Given the description of an element on the screen output the (x, y) to click on. 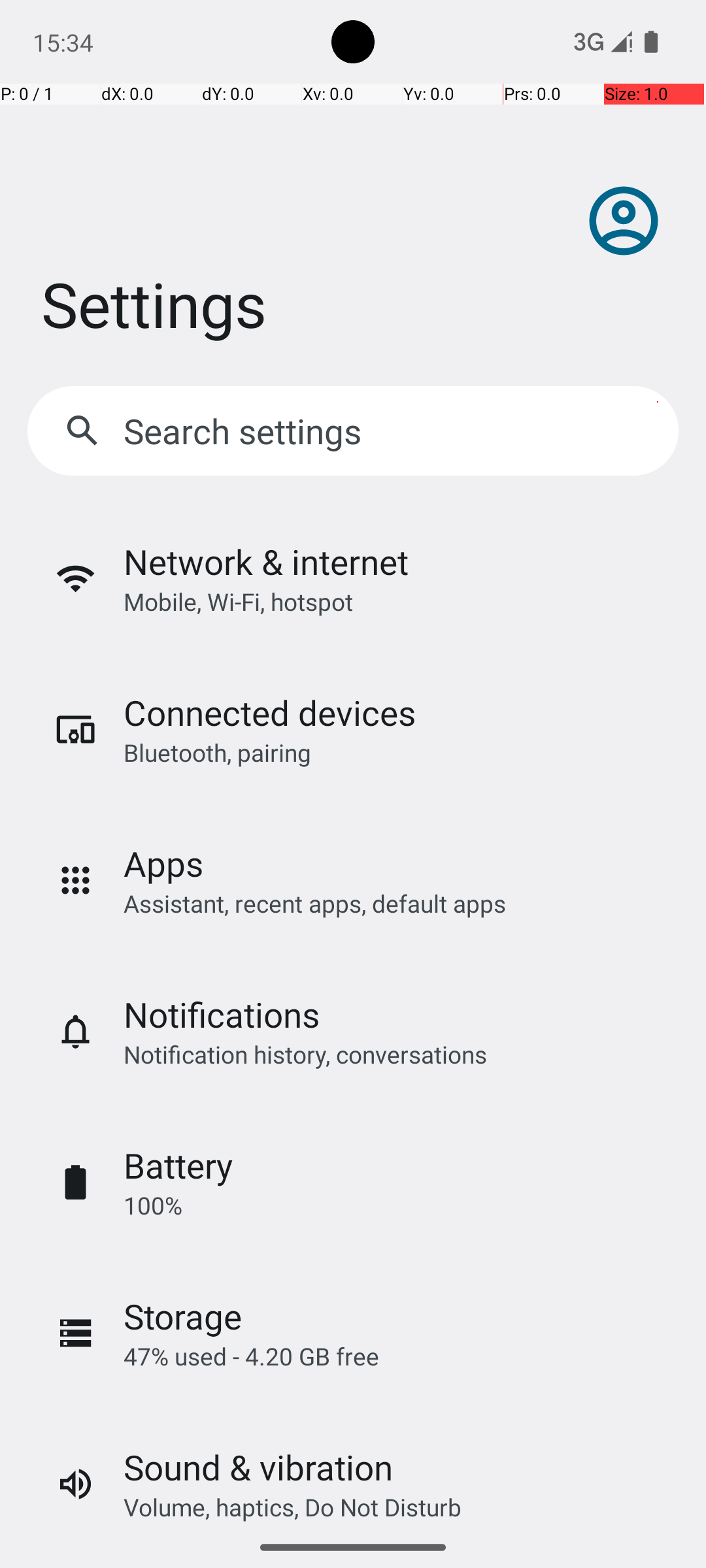
47% used - 4.20 GB free Element type: android.widget.TextView (251, 1355)
